Given the description of an element on the screen output the (x, y) to click on. 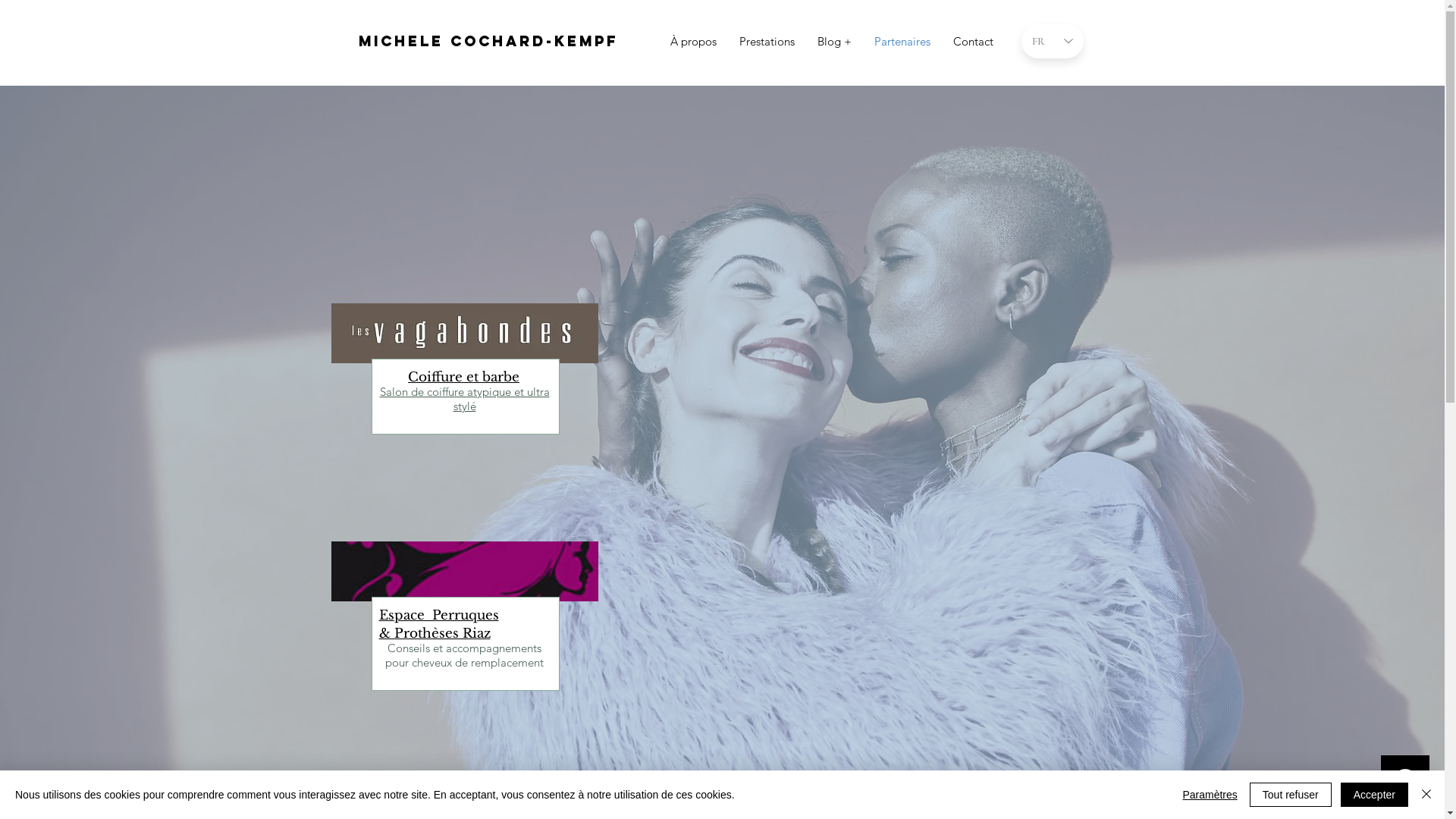
Blog + Element type: text (833, 41)
Tout refuser Element type: text (1290, 794)
Prestations Element type: text (767, 41)
Partenaires Element type: text (901, 41)
Coiffure et barbe Element type: text (463, 376)
Contact Element type: text (972, 41)
Michele Cochard-Kempf Element type: text (488, 40)
Accepter Element type: text (1374, 794)
